Given the description of an element on the screen output the (x, y) to click on. 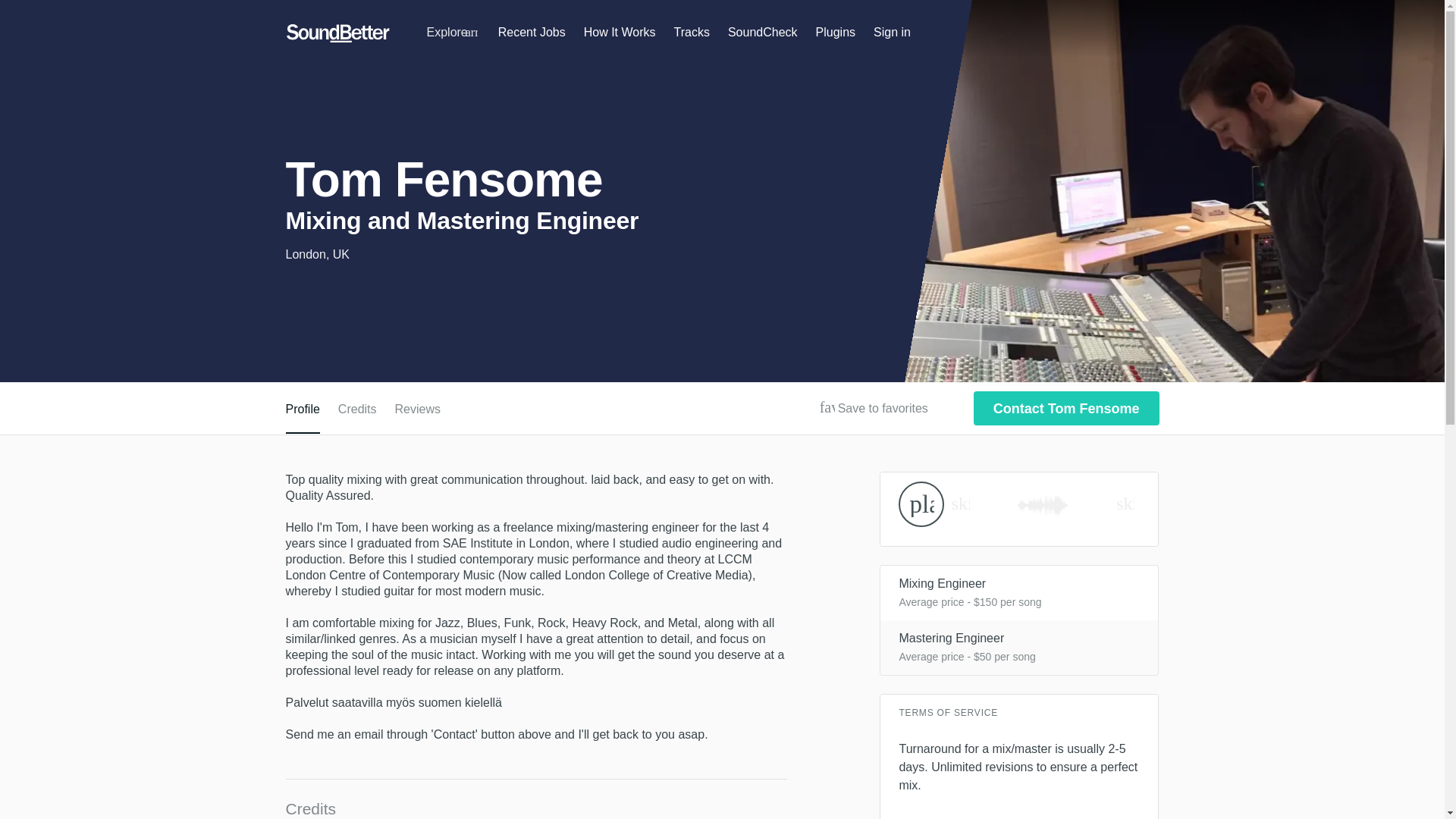
SoundBetter (337, 33)
